Given the description of an element on the screen output the (x, y) to click on. 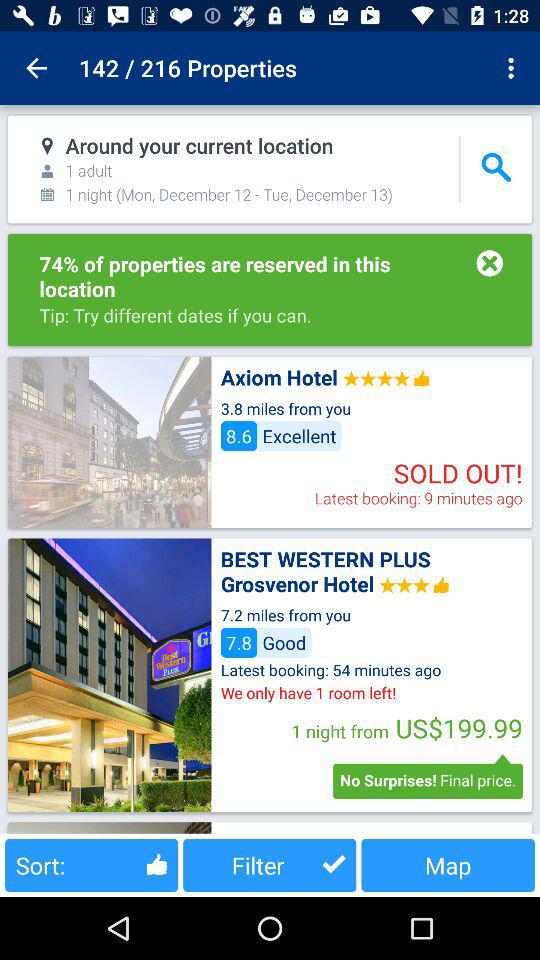
launch the item next to map icon (269, 864)
